Given the description of an element on the screen output the (x, y) to click on. 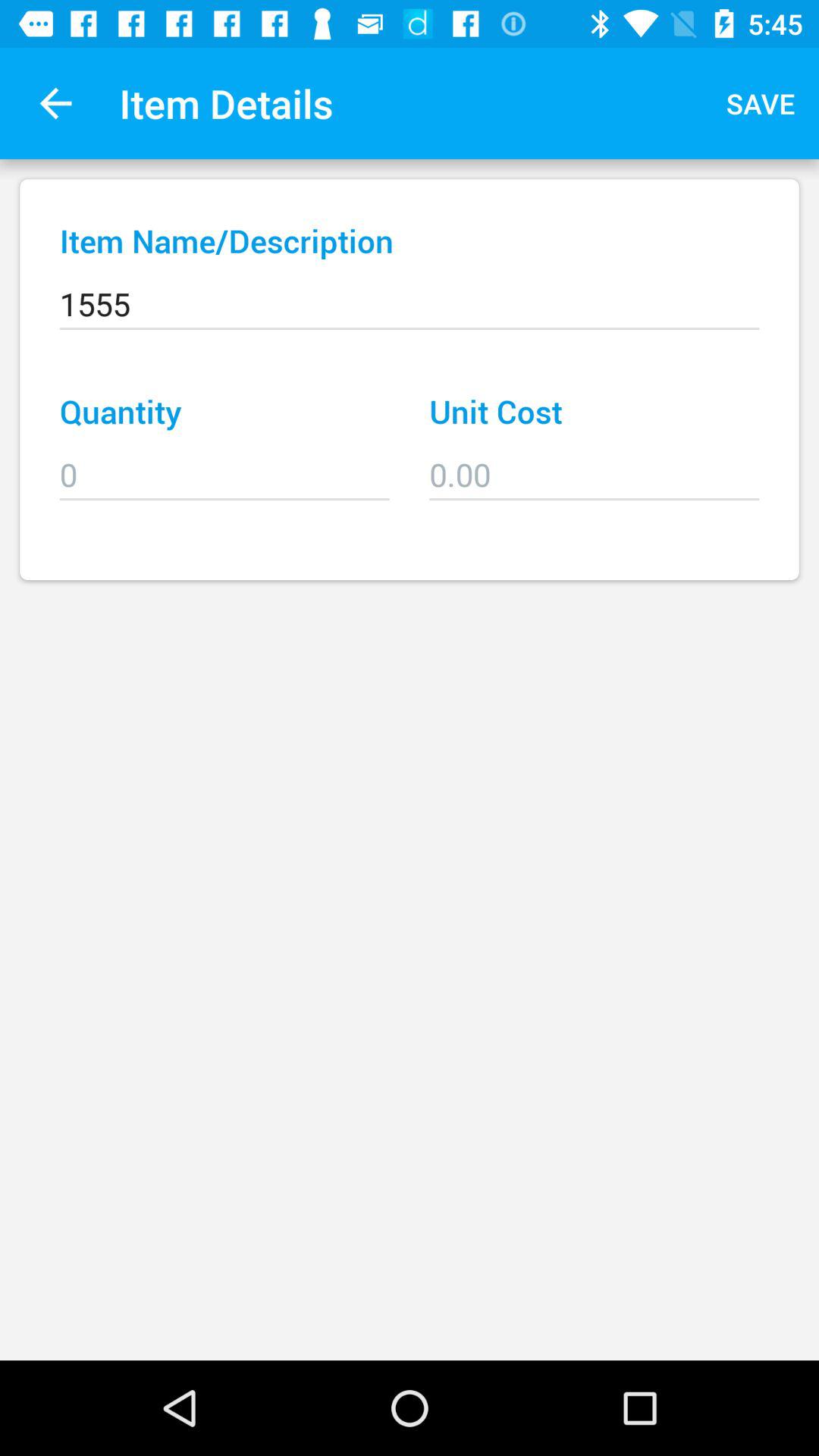
click the item below item name/description item (409, 293)
